Given the description of an element on the screen output the (x, y) to click on. 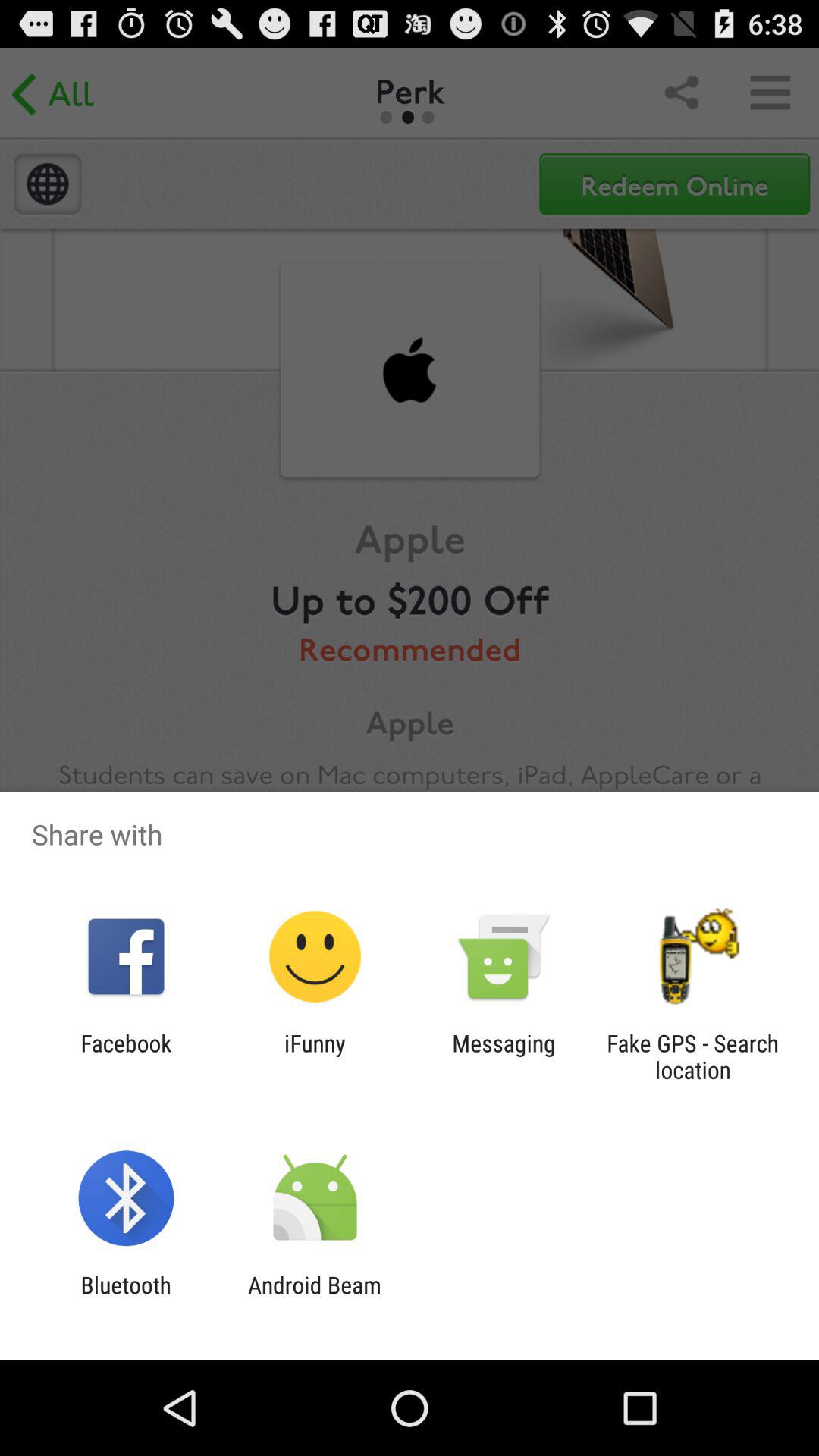
click icon next to messaging item (314, 1056)
